Given the description of an element on the screen output the (x, y) to click on. 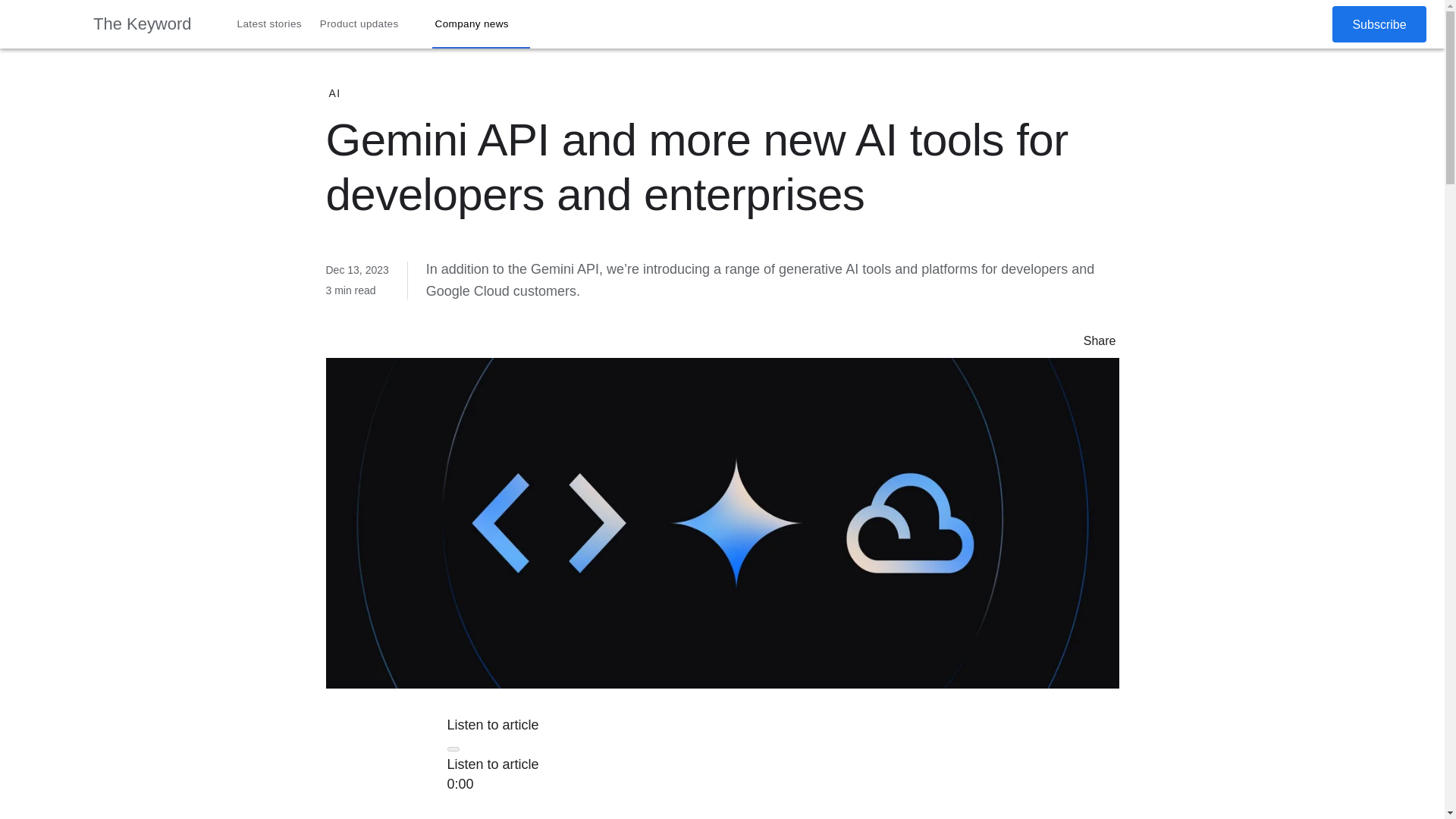
Secondary menu (1307, 23)
Google (46, 24)
Latest stories (269, 24)
Share (1068, 340)
Search (1274, 23)
Product updates (368, 24)
The Keyword (142, 24)
